Given the description of an element on the screen output the (x, y) to click on. 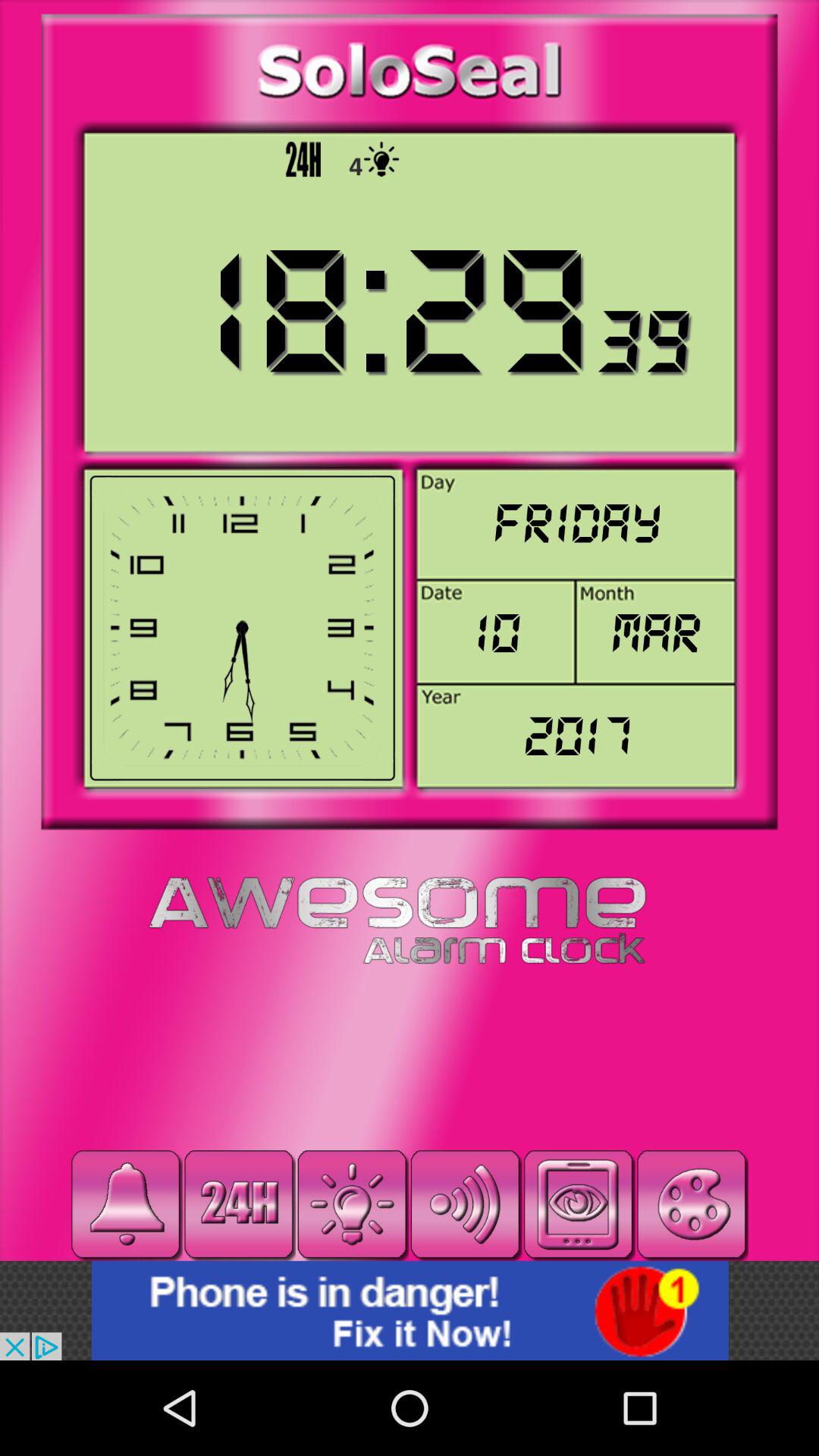
toggle light (351, 1203)
